Given the description of an element on the screen output the (x, y) to click on. 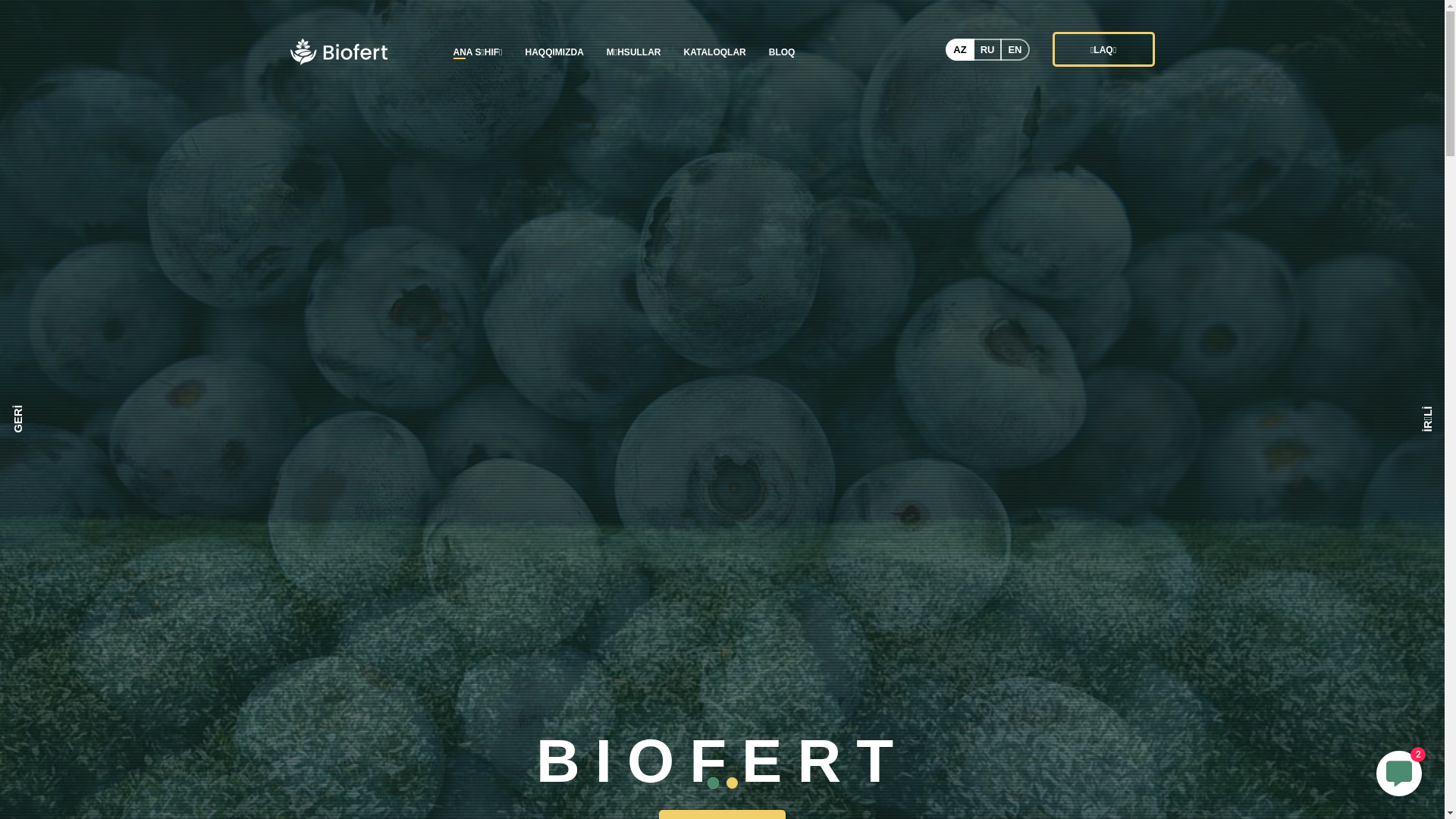
BLOQ Element type: text (782, 52)
AZ Element type: text (959, 48)
KATALOQLAR Element type: text (714, 52)
RU Element type: text (987, 48)
HAQQIMIZDA Element type: text (554, 52)
EN Element type: text (1014, 48)
